Given the description of an element on the screen output the (x, y) to click on. 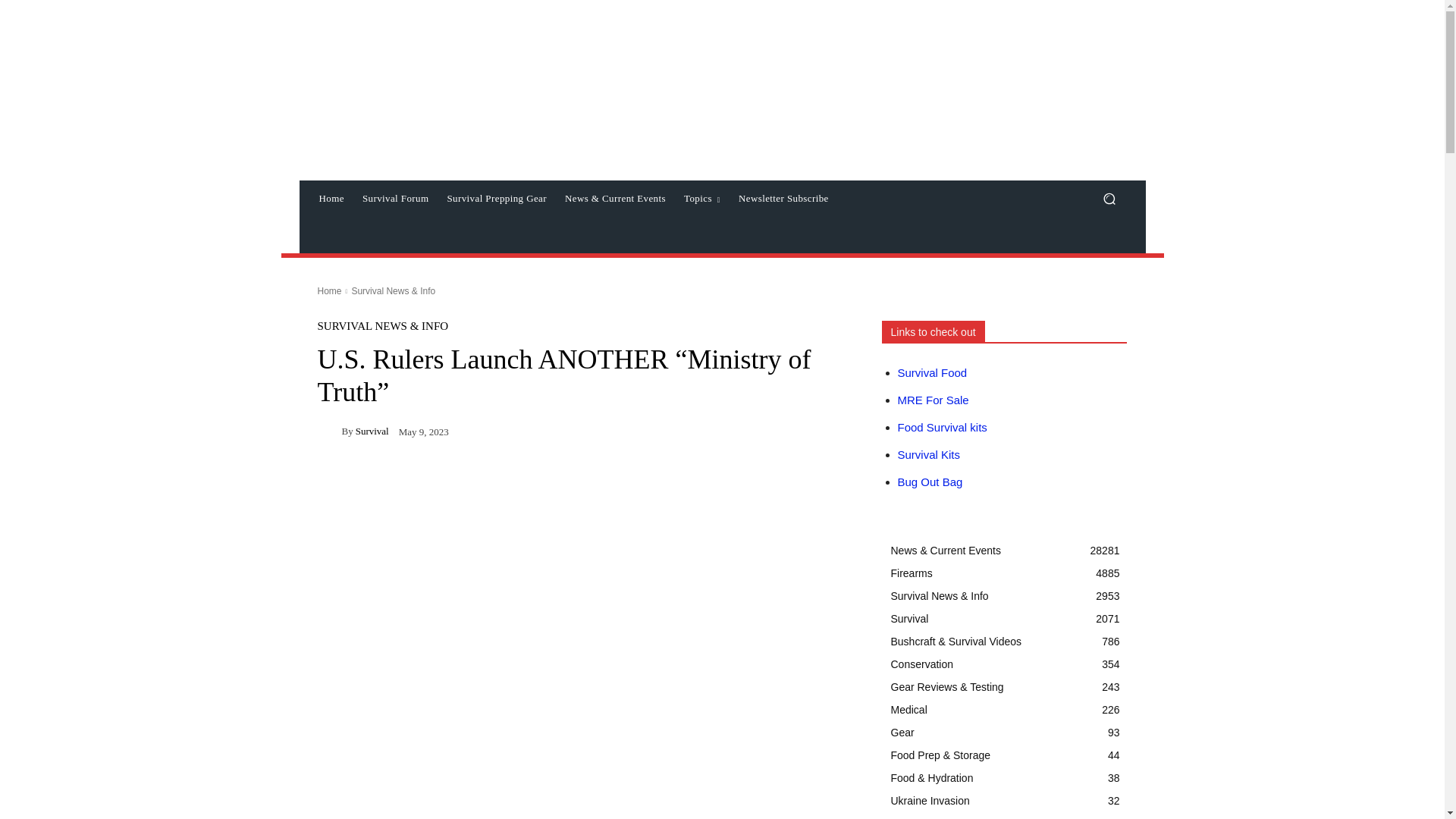
Survival Forum  (395, 198)
survival (328, 430)
